Given the description of an element on the screen output the (x, y) to click on. 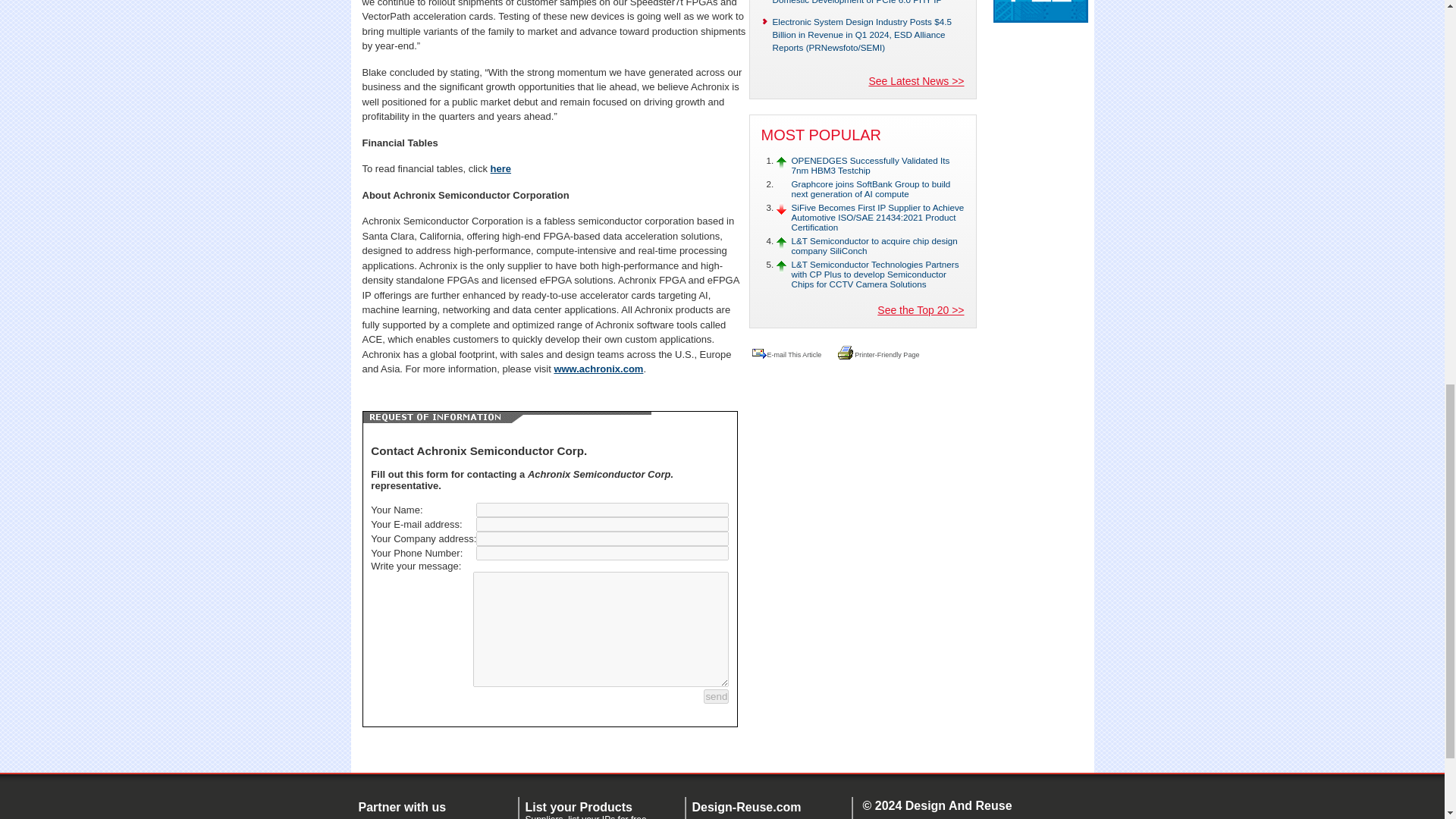
send (716, 695)
